Given the description of an element on the screen output the (x, y) to click on. 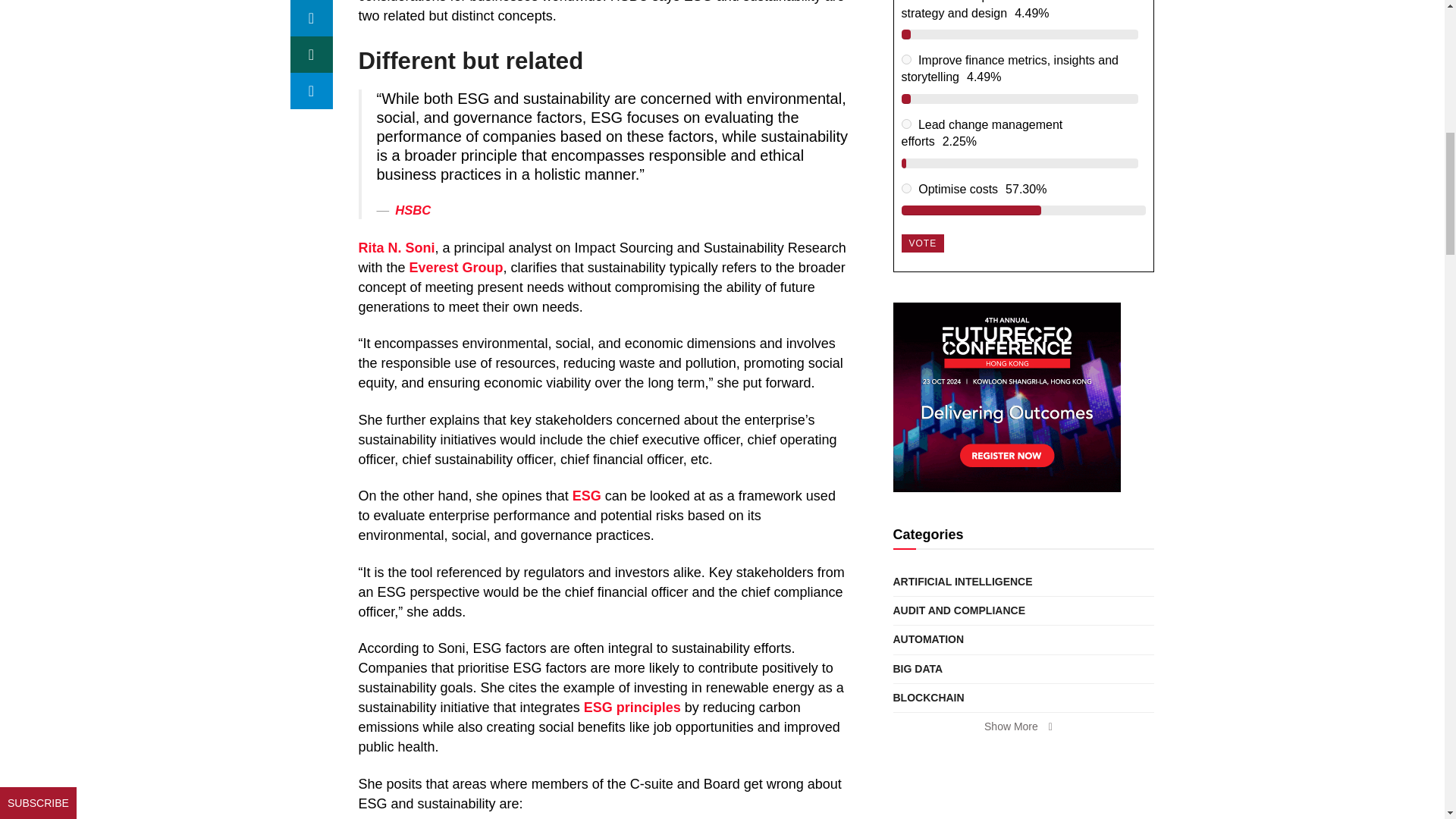
46 (906, 188)
44 (906, 59)
45 (906, 123)
